Given the description of an element on the screen output the (x, y) to click on. 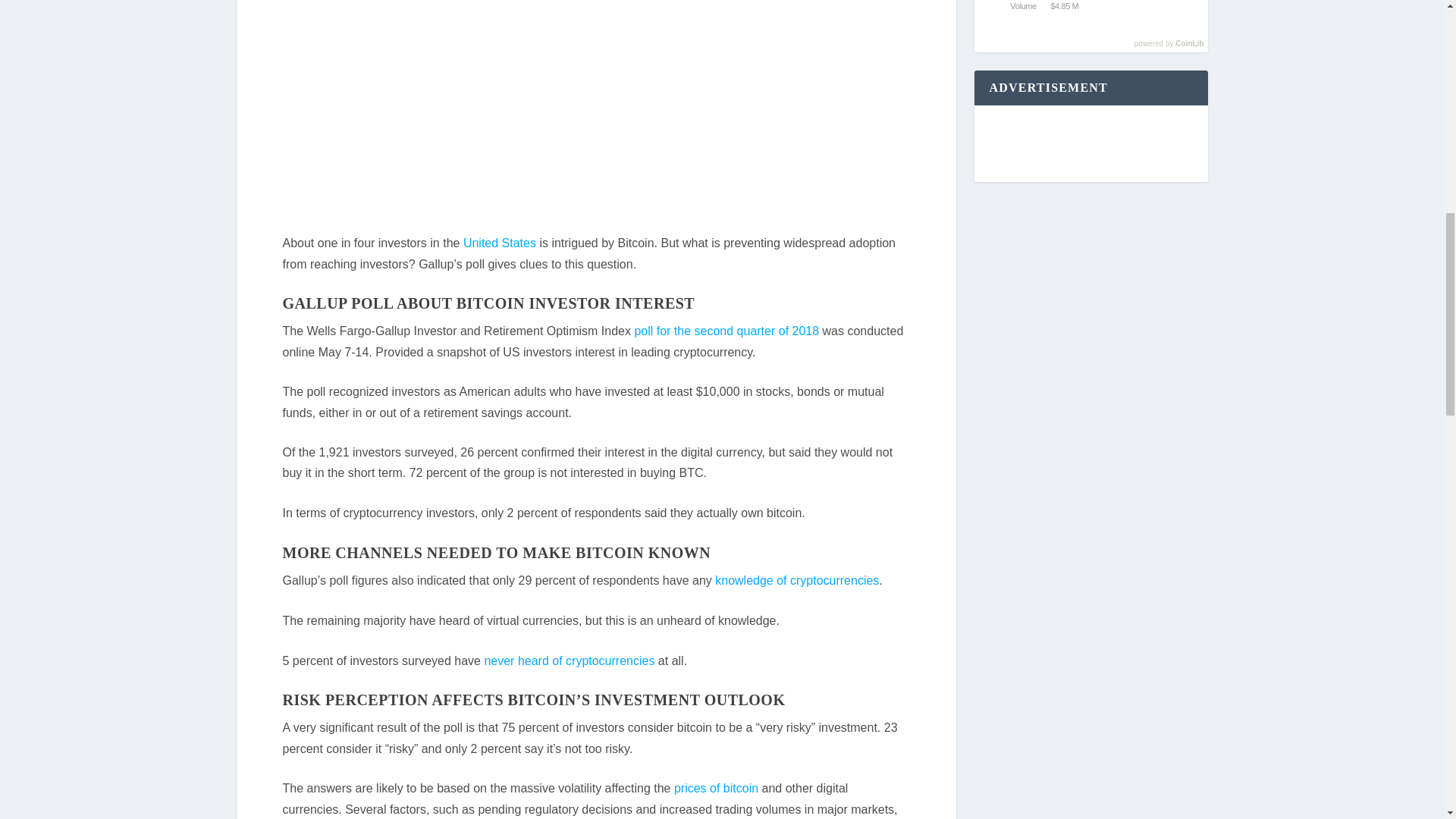
poll for the second quarter of 2018 (725, 330)
United States (499, 242)
prices of bitcoin (716, 788)
never heard of cryptocurrencies (568, 660)
knowledge of cryptocurrencies (796, 580)
